Given the description of an element on the screen output the (x, y) to click on. 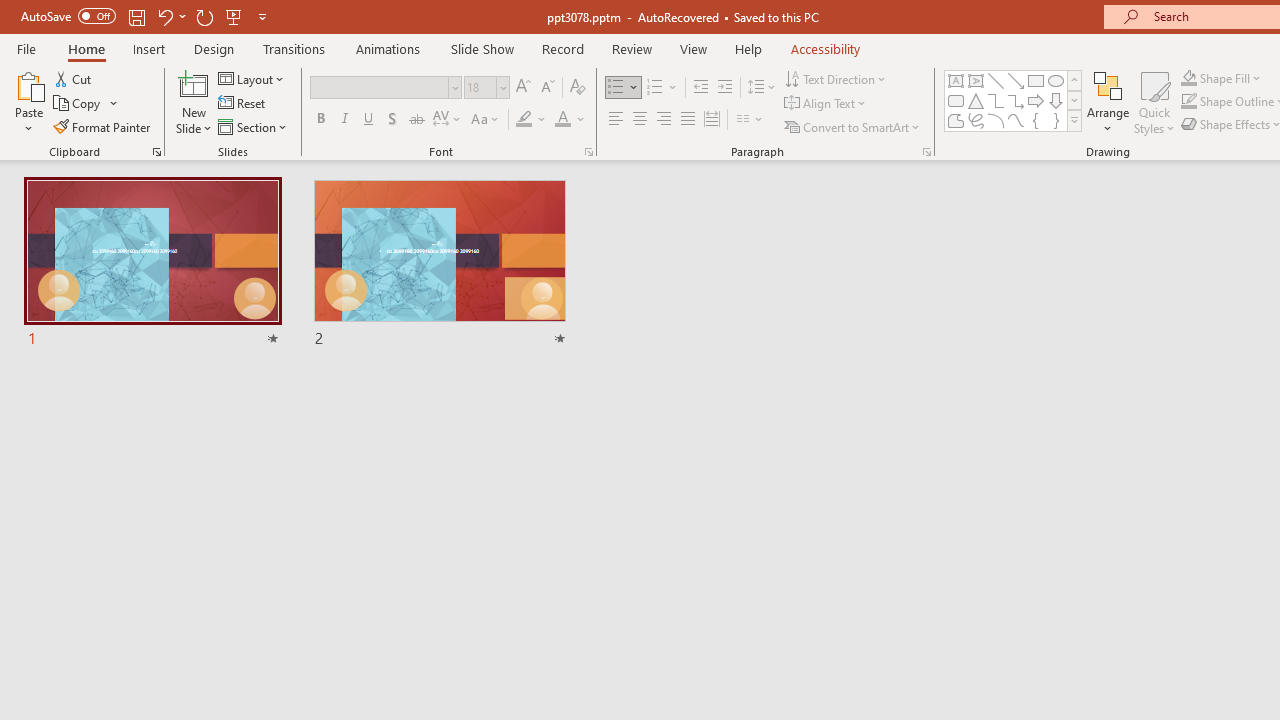
Change Case (486, 119)
Align Text (826, 103)
Columns (750, 119)
Freeform: Shape (955, 120)
Shapes (1074, 120)
Office Clipboard... (156, 151)
Oval (1055, 80)
Line Arrow (1016, 80)
Shape Fill Dark Green, Accent 2 (1188, 78)
Shape Outline Green, Accent 1 (1188, 101)
Quick Styles (1154, 102)
